Given the description of an element on the screen output the (x, y) to click on. 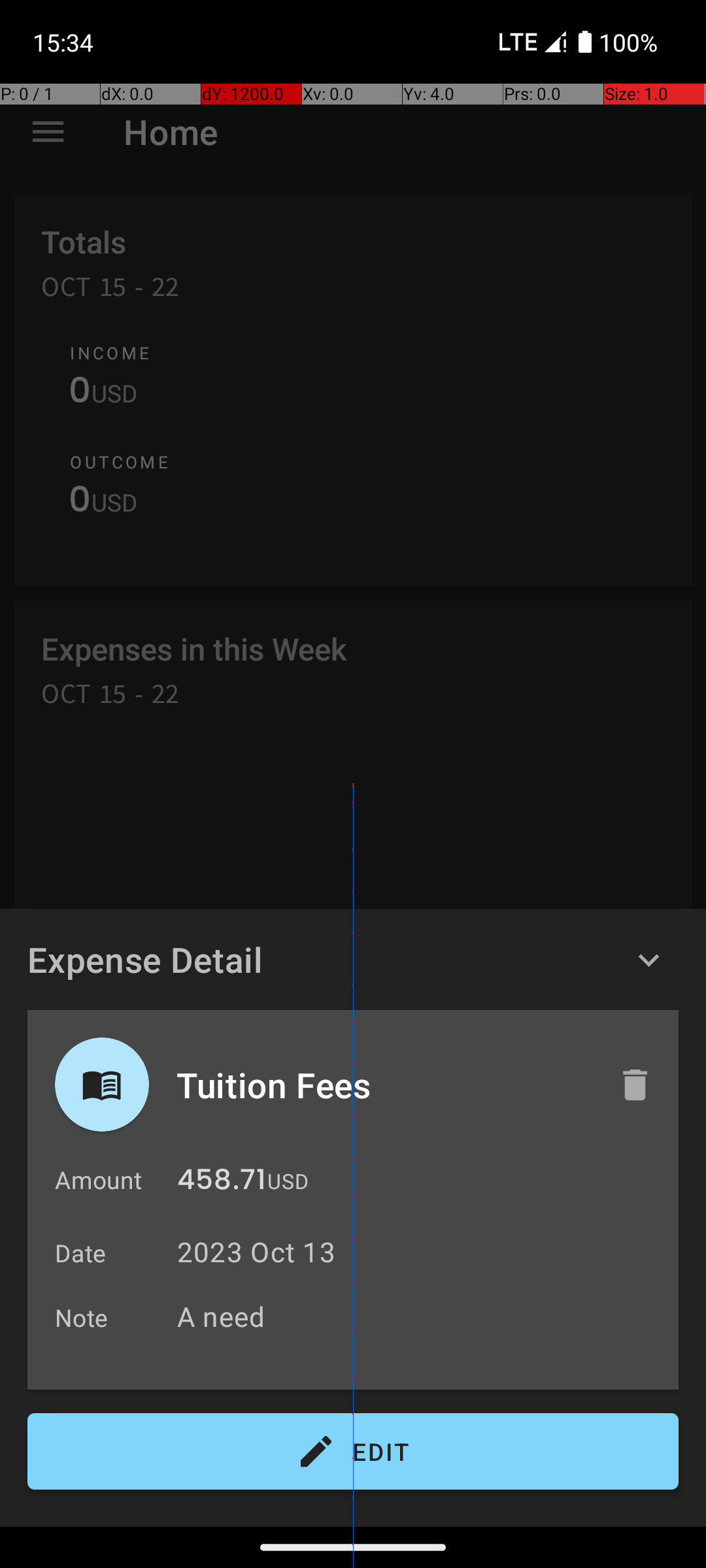
Tuition Fees Element type: android.widget.TextView (383, 1084)
458.71 Element type: android.widget.TextView (221, 1182)
